Given the description of an element on the screen output the (x, y) to click on. 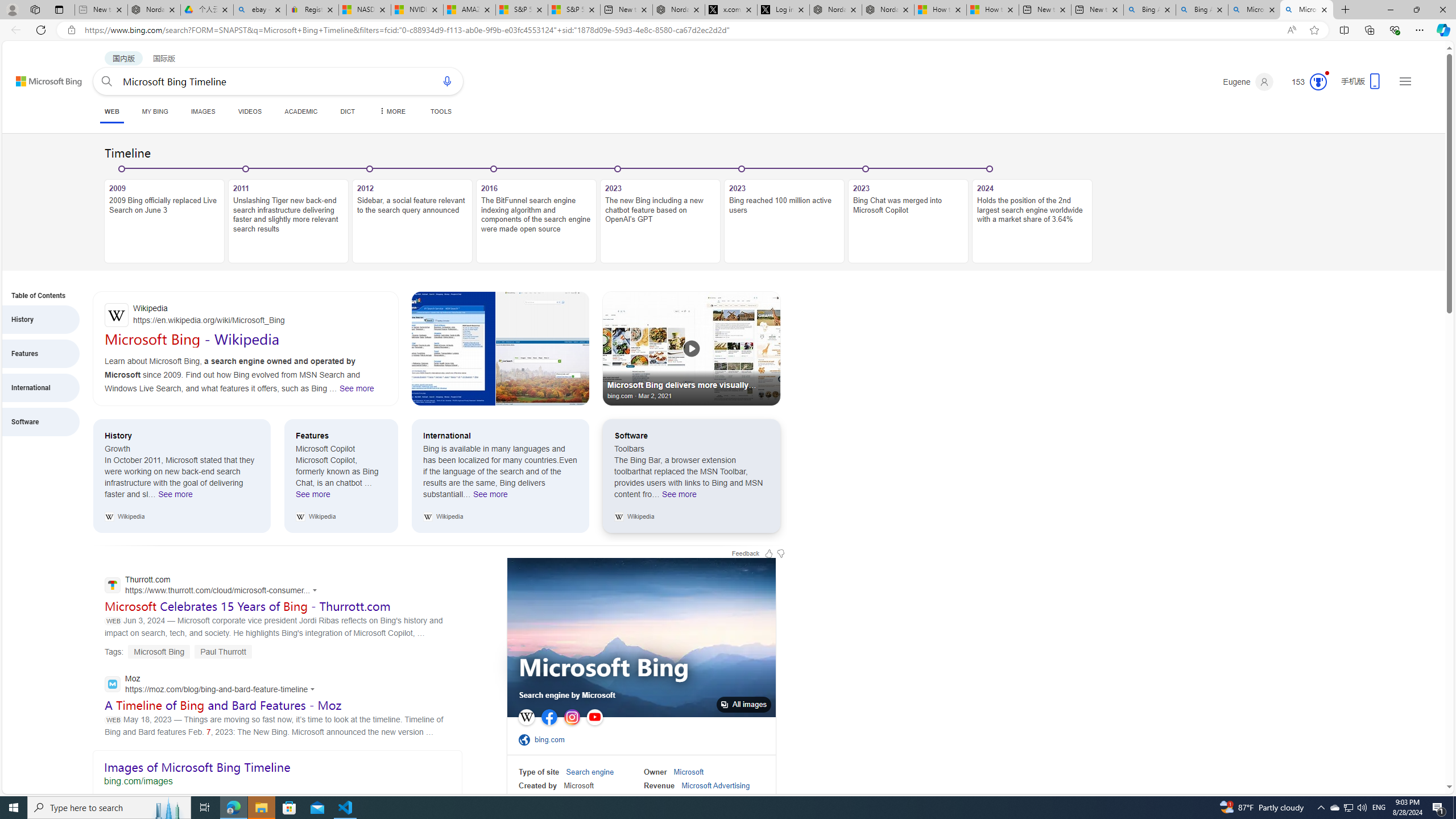
2009 2009 Bing officially replaced Live Search on June 3 (164, 220)
bing.com (553, 739)
YouTube (594, 716)
Moz (212, 684)
Eugene (1248, 81)
See more Software (679, 496)
TOOLS (440, 111)
Settings and quick links (1404, 80)
ebay - Search (259, 9)
App bar (728, 29)
MY BING (154, 111)
